Given the description of an element on the screen output the (x, y) to click on. 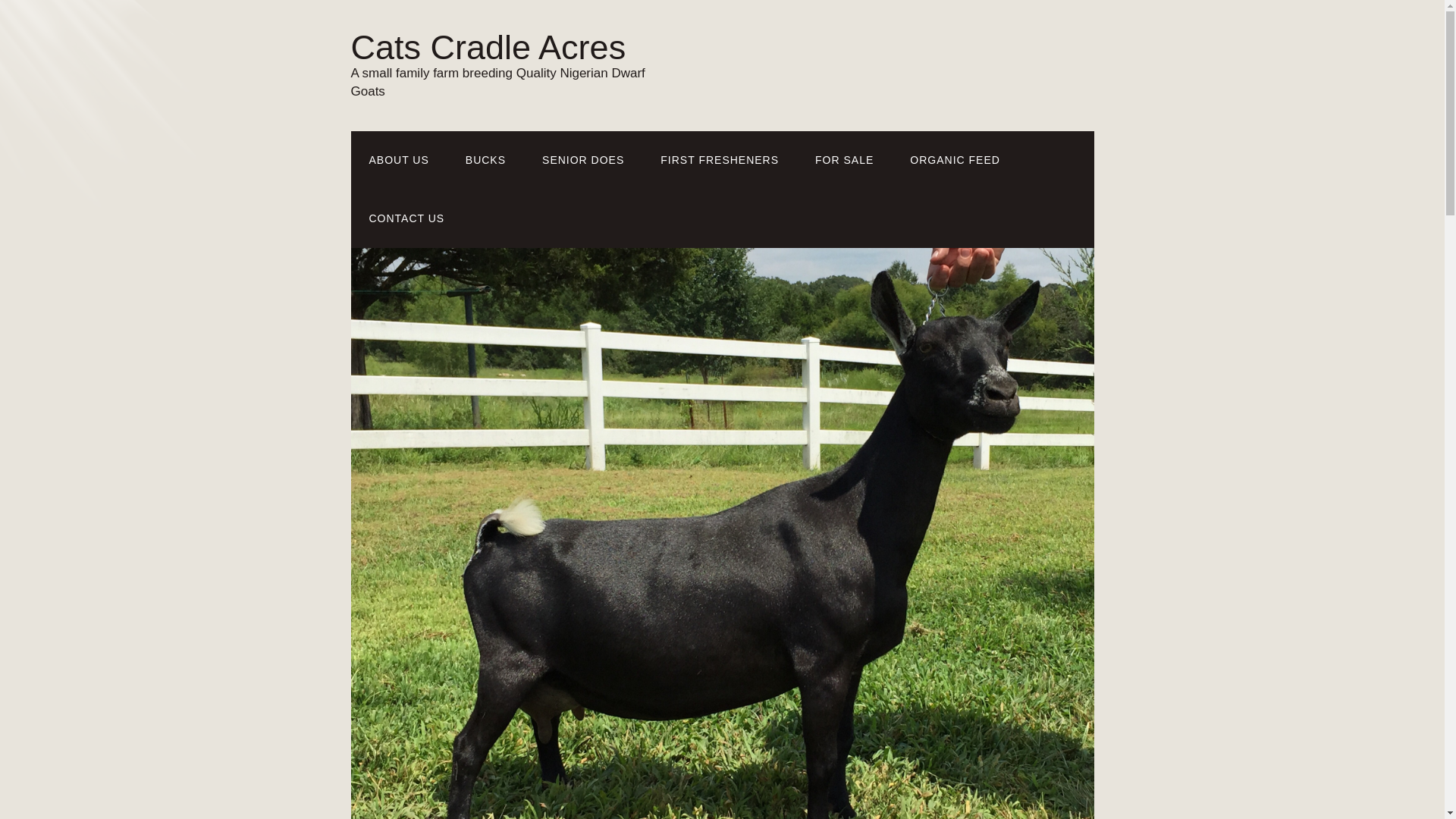
CONTACT US (406, 218)
Cats Cradle Acres (488, 46)
SENIOR DOES (583, 160)
FIRST FRESHENERS (719, 160)
ORGANIC FEED (954, 160)
FOR SALE (843, 160)
Cats Cradle Acres (488, 46)
ABOUT US (398, 160)
BUCKS (485, 160)
